Given the description of an element on the screen output the (x, y) to click on. 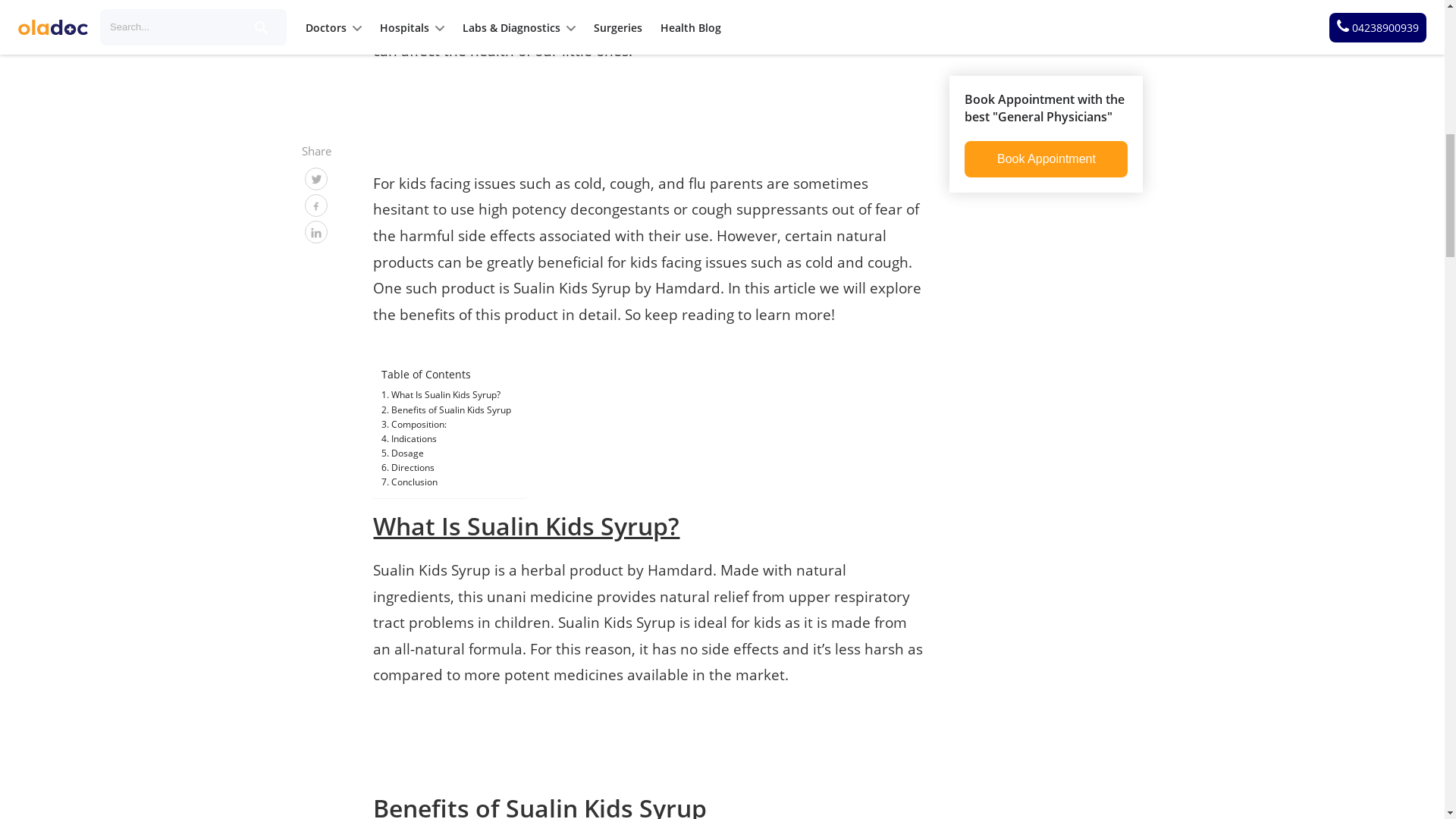
Directions (407, 467)
What Is Sualin Kids Syrup? (440, 394)
Composition: (413, 423)
Dosage (402, 452)
Conclusion (408, 481)
Indications (408, 438)
Benefits of Sualin Kids Syrup (446, 409)
